Given the description of an element on the screen output the (x, y) to click on. 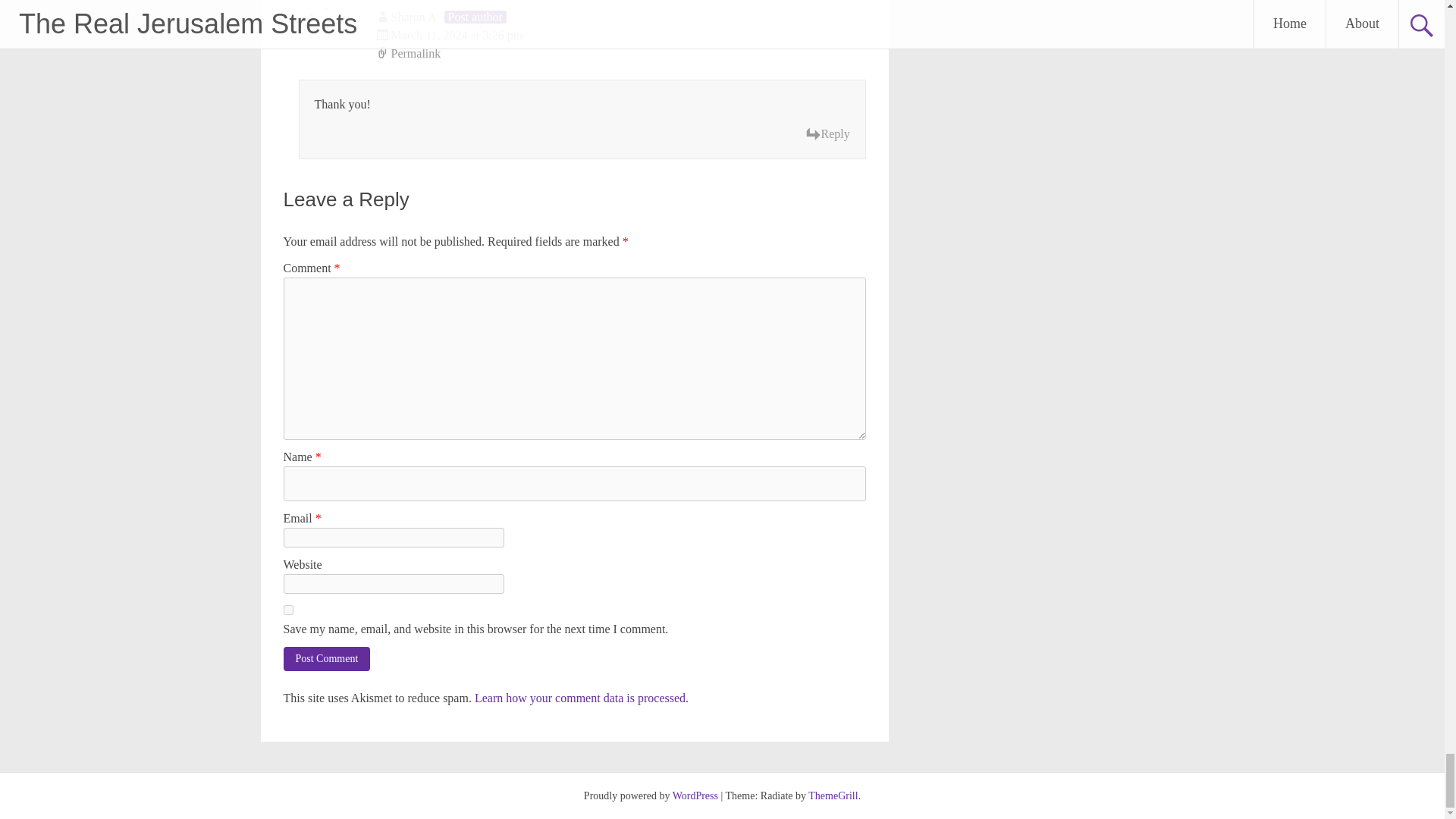
Permalink (620, 54)
Post Comment (327, 658)
Post Comment (327, 658)
Reply (827, 134)
yes (288, 610)
Learn how your comment data is processed (579, 697)
